Given the description of an element on the screen output the (x, y) to click on. 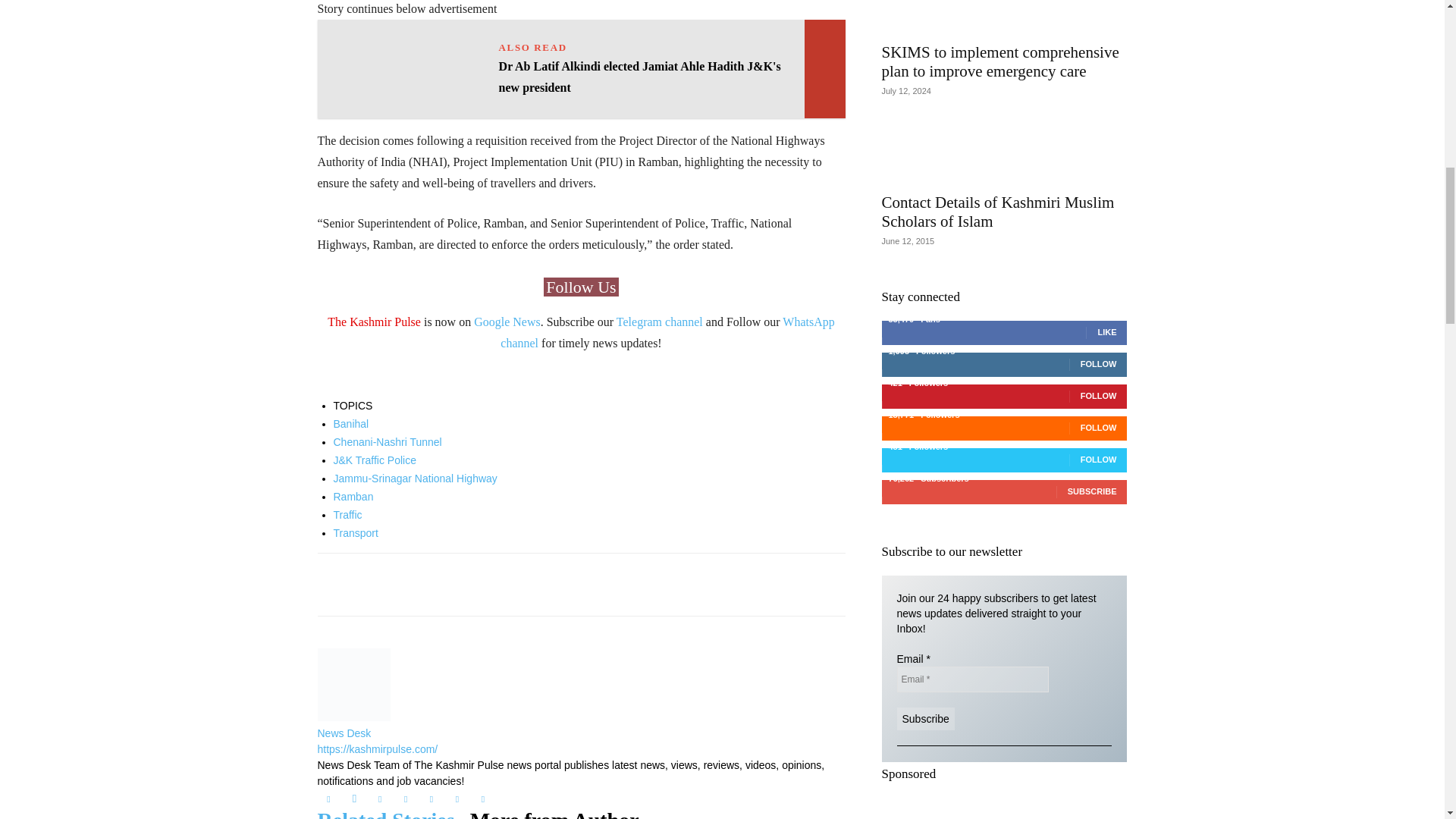
Subscribe (924, 718)
